Given the description of an element on the screen output the (x, y) to click on. 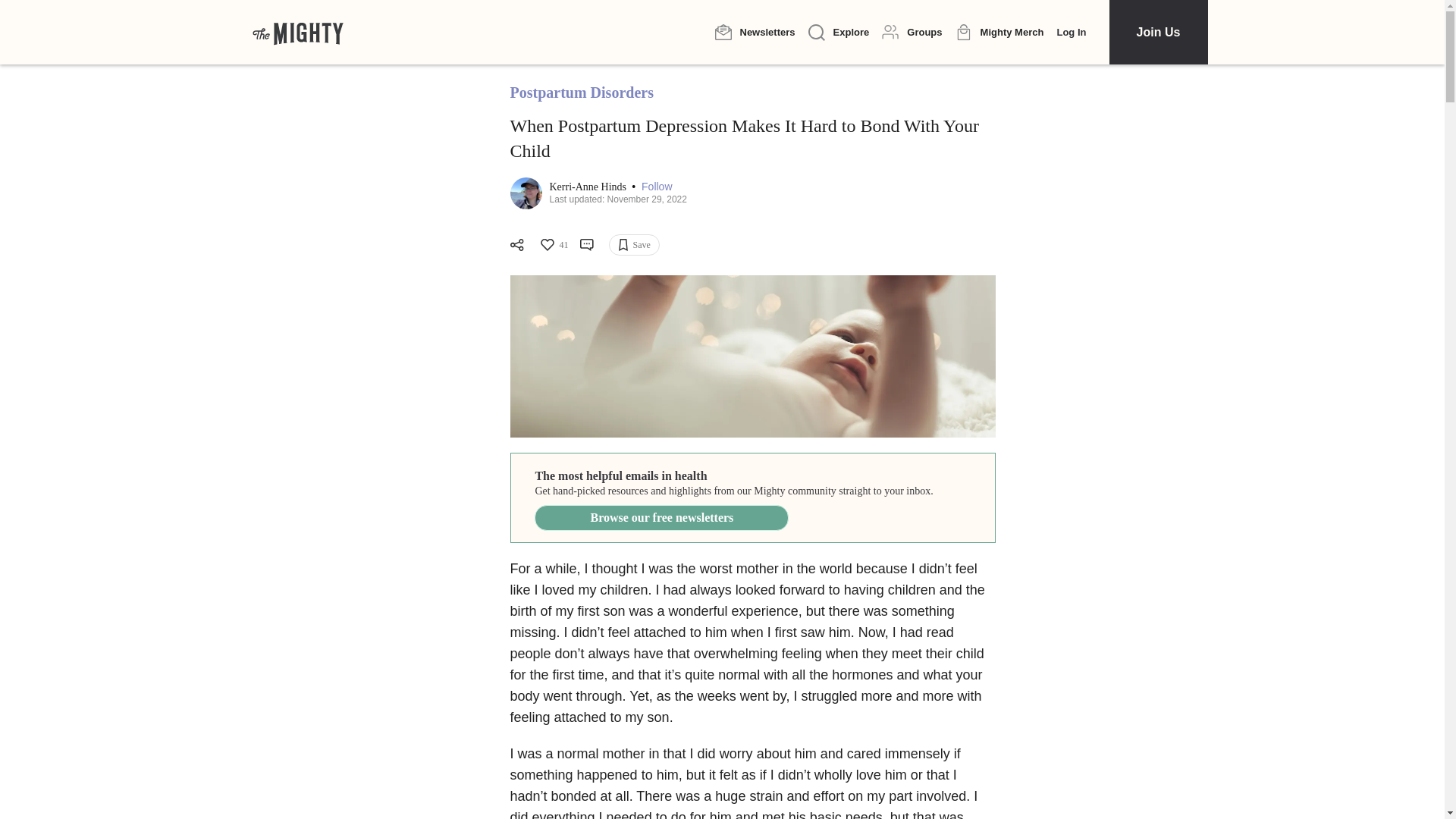
41 (552, 244)
Browse our free newsletters (661, 517)
Mighty Merch (999, 32)
Postpartum Disorders (580, 92)
Kerri-Anne Hinds (588, 186)
Groups (912, 32)
Join Us (1157, 32)
Save (633, 244)
Newsletters (754, 31)
The Mighty (296, 32)
Follow (656, 186)
Explore (838, 32)
